Given the description of an element on the screen output the (x, y) to click on. 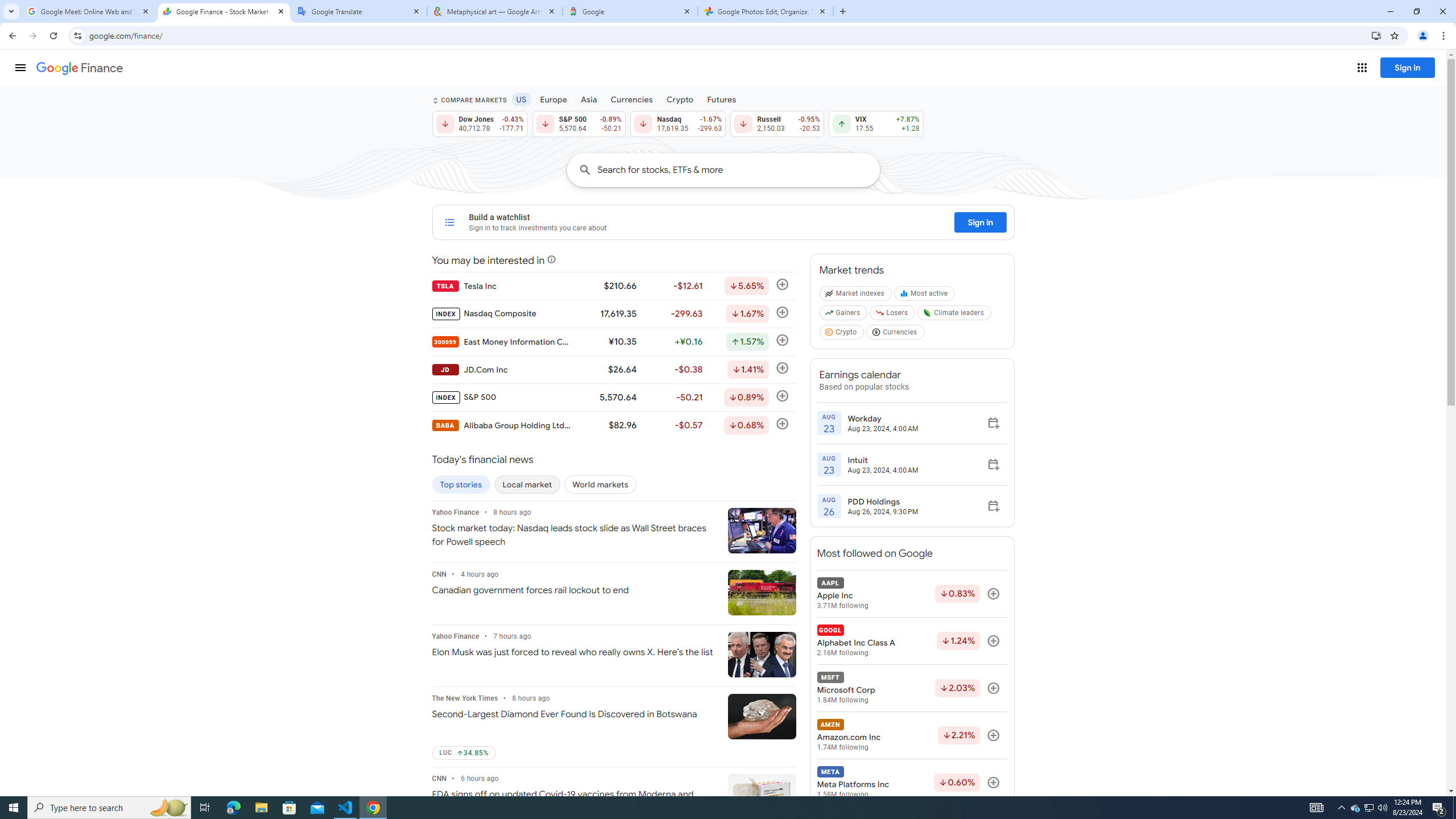
COMPARE MARKETS (468, 100)
AAPL Apple Inc 3.71M following Down by 0.83% Follow (911, 593)
META Meta Platforms Inc 1.58M following Down by 0.60% Follow (911, 782)
Asia (588, 99)
AMZN Amazon.com Inc 1.74M following Down by 2.21% Follow (911, 735)
JD JD.Com Inc $26.64 -$0.38 Down by 1.41% Follow (613, 369)
Losers (893, 315)
TSLA Tesla Inc $210.66 -$12.61 Down by 5.65% Follow (613, 285)
Crypto (842, 334)
